Given the description of an element on the screen output the (x, y) to click on. 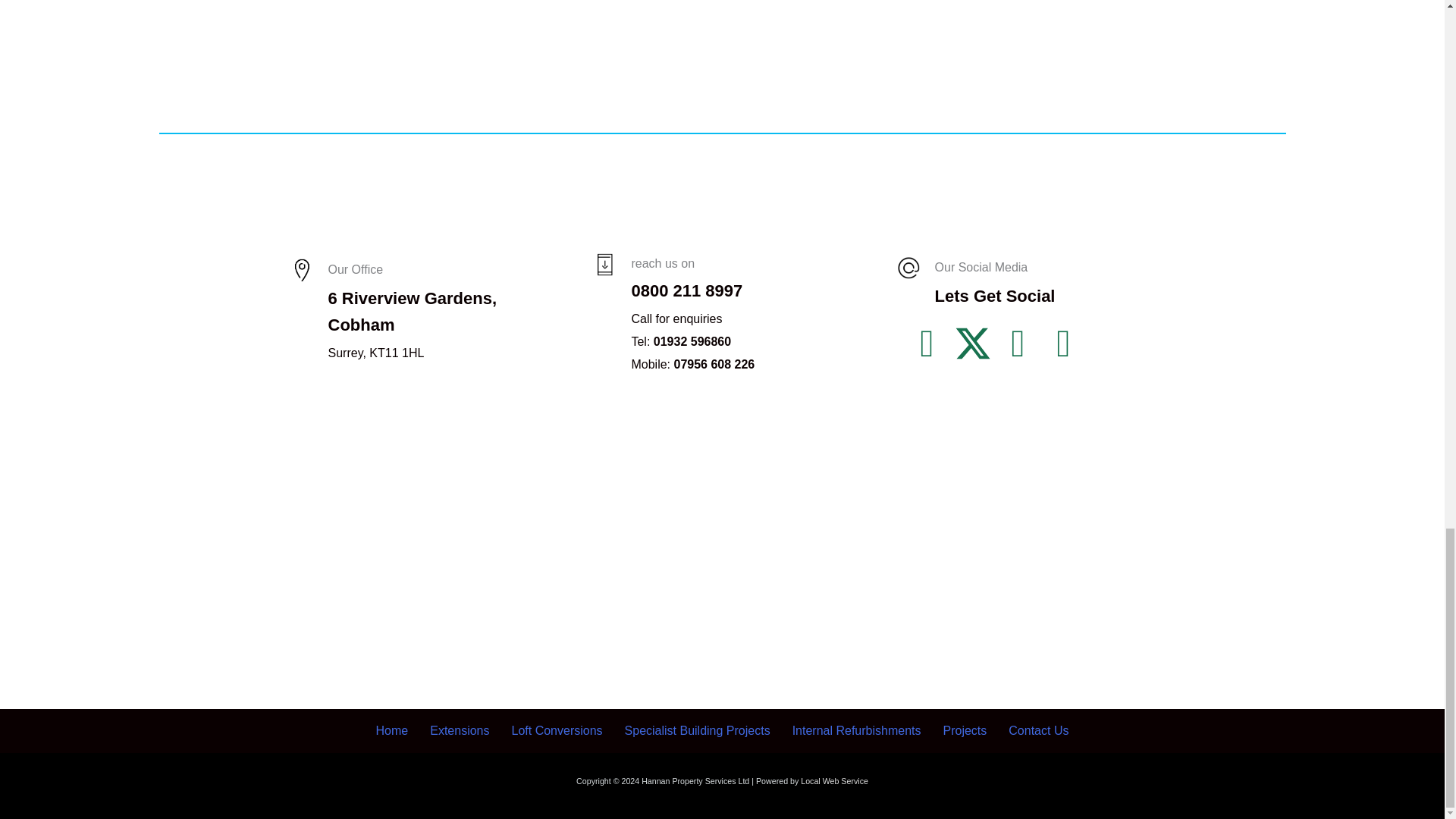
icon08-free-img (908, 267)
Projects (965, 730)
Contact Us (1037, 730)
Specialist Building Projects (697, 730)
Extensions (459, 730)
LinkedIn (1018, 343)
Internal Refurbishments (856, 730)
icon09-free-img (603, 264)
icon07-free-img (301, 269)
Facebook (927, 343)
